Given the description of an element on the screen output the (x, y) to click on. 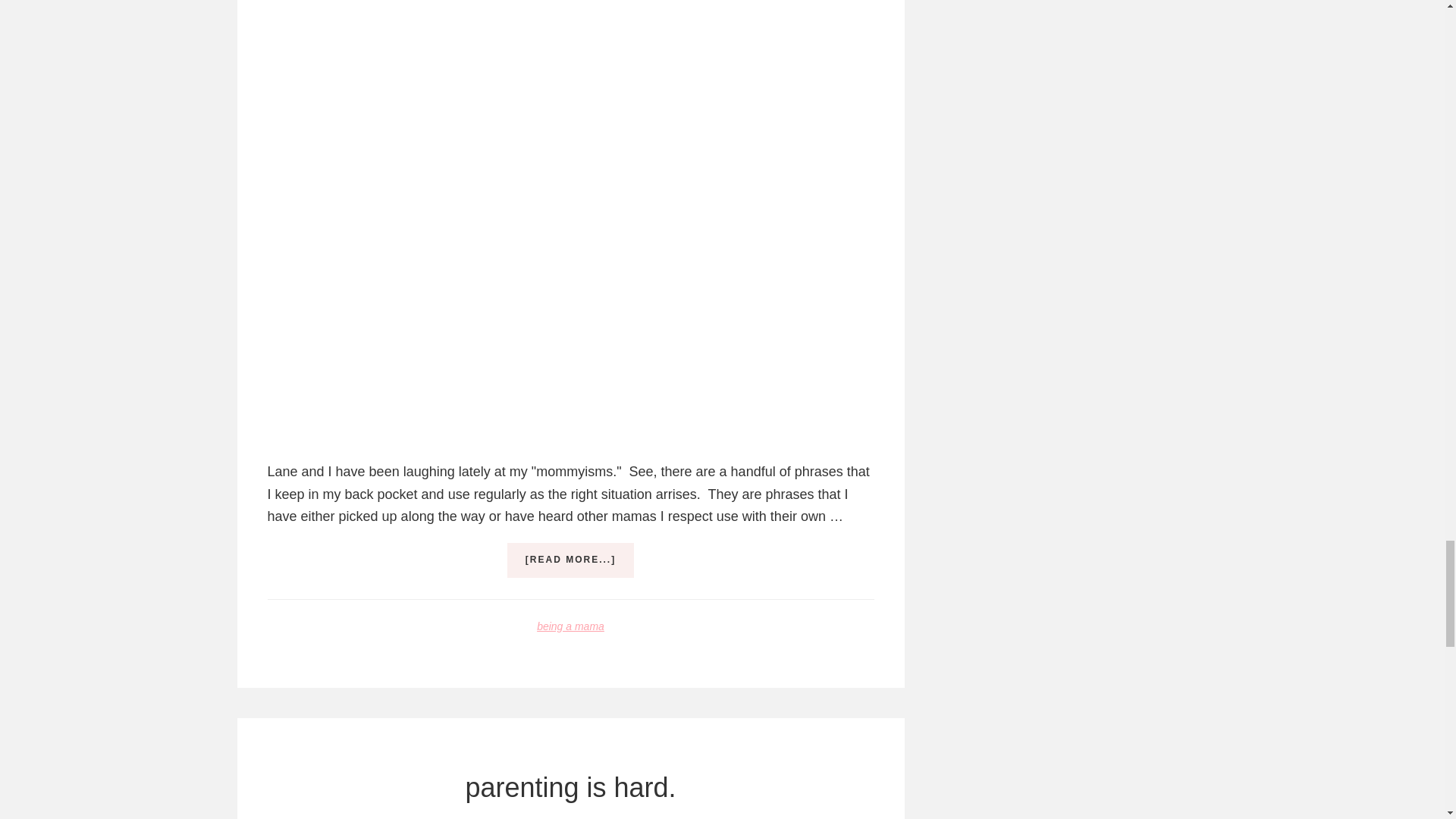
being a mama (570, 625)
parenting is hard. (569, 787)
